Given the description of an element on the screen output the (x, y) to click on. 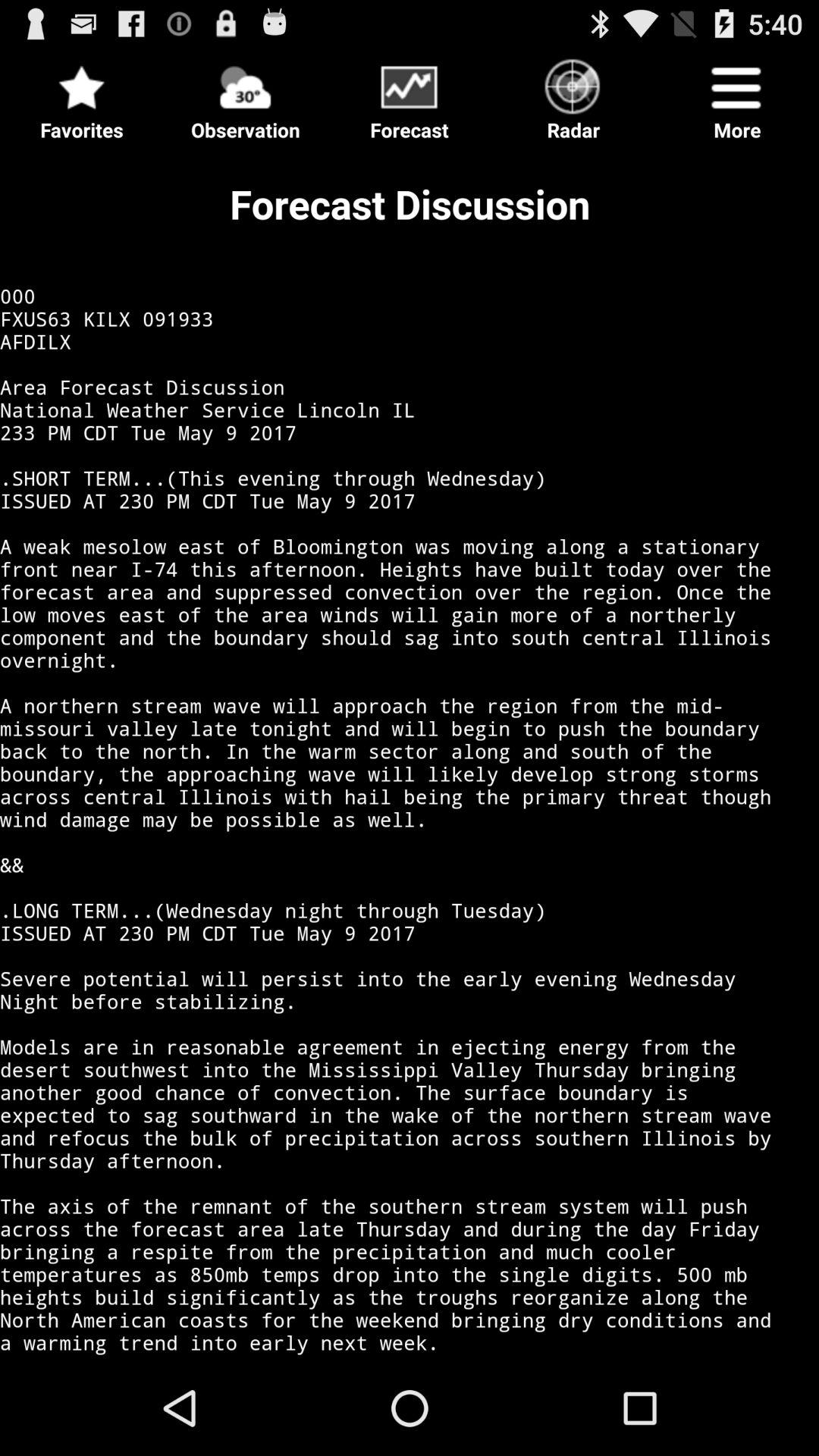
launch button to the left of radar item (409, 95)
